Given the description of an element on the screen output the (x, y) to click on. 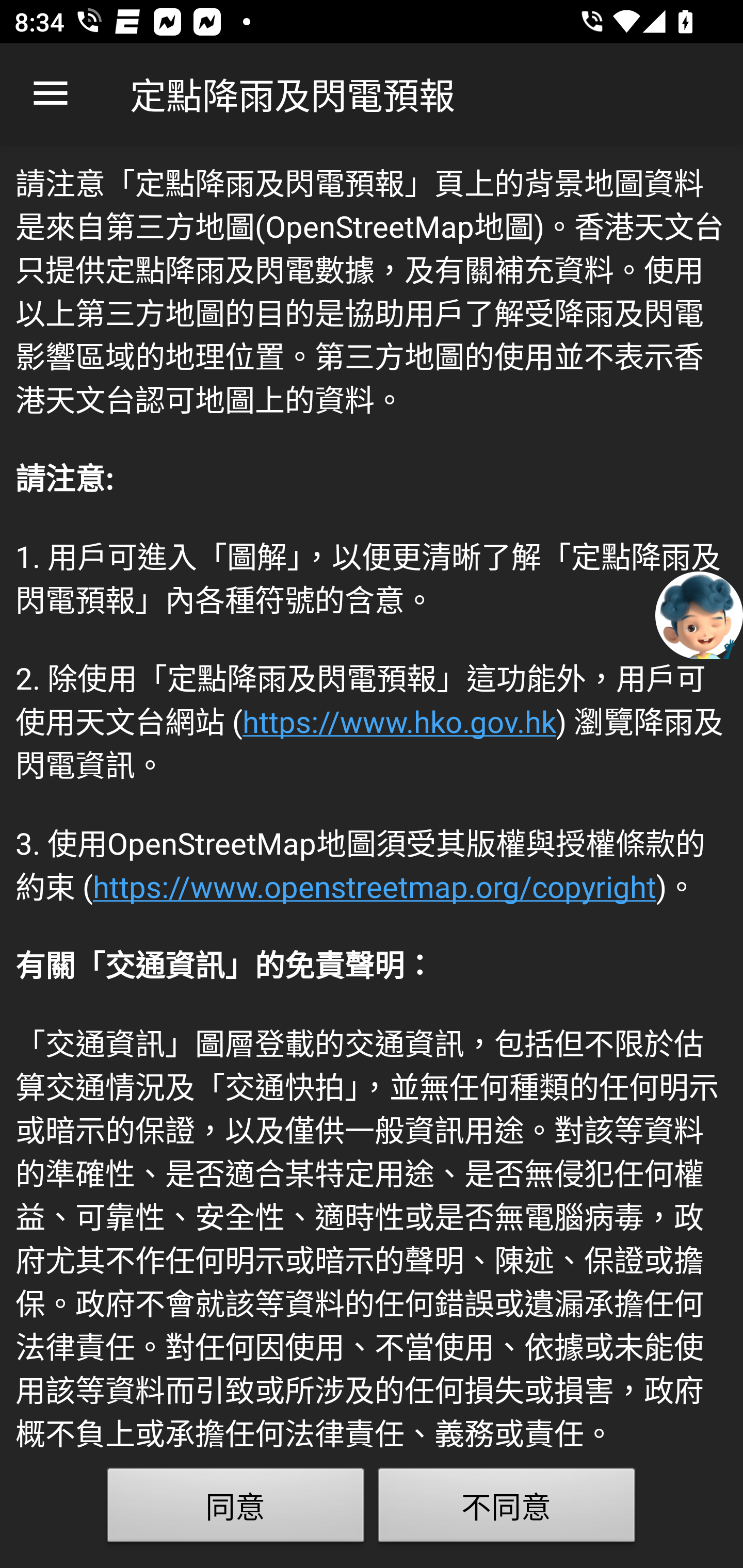
向上瀏覽 (50, 93)
聊天機械人 (699, 614)
同意 (235, 1509)
不同意 (506, 1509)
